Given the description of an element on the screen output the (x, y) to click on. 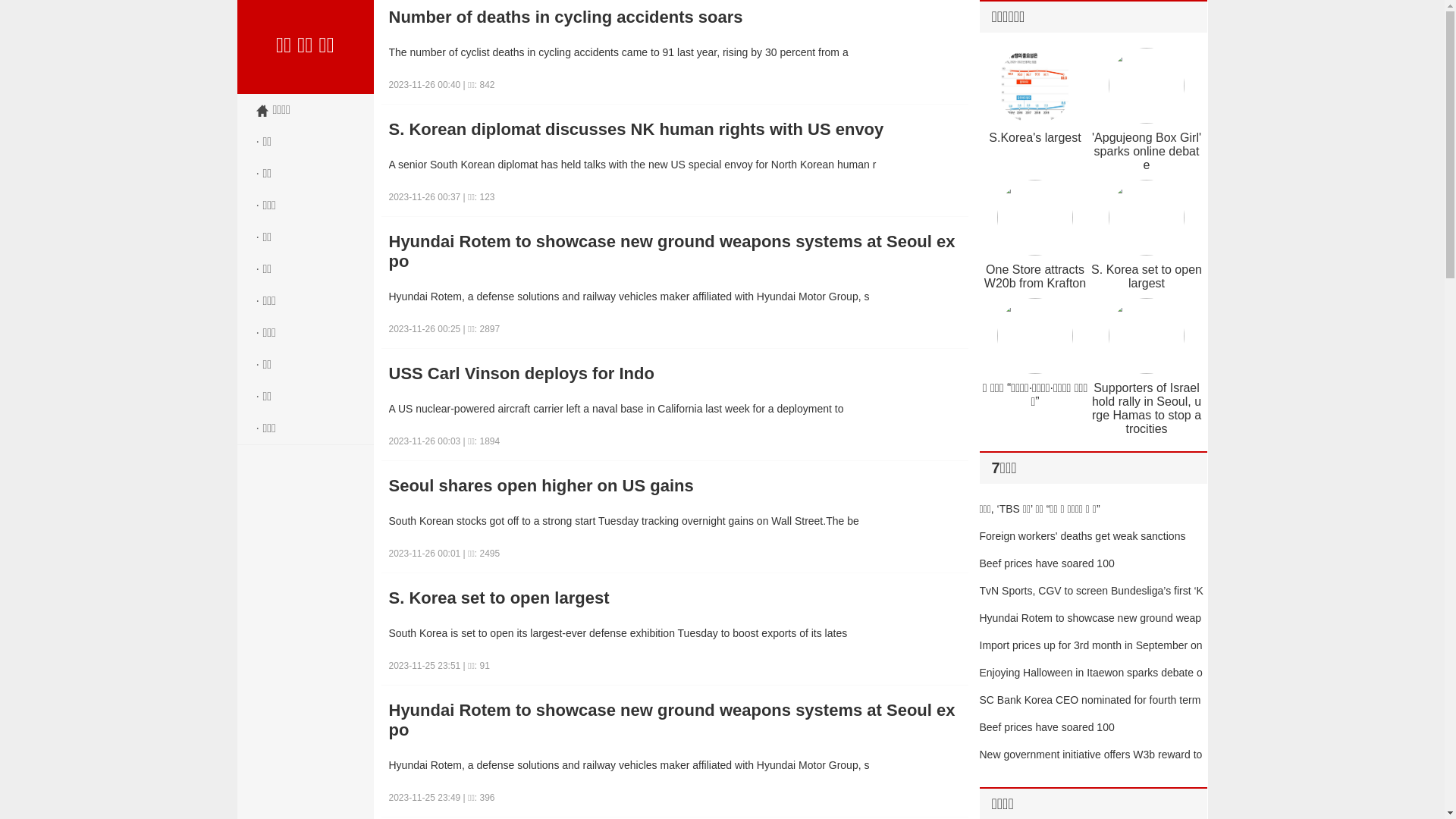
Beef prices have soared 100 Element type: text (1046, 563)
Beef prices have soared 100 Element type: text (1046, 727)
SC Bank Korea CEO nominated for fourth term Element type: text (1090, 699)
Seoul shares open higher on US gains Element type: text (674, 485)
S.Korea's largest Element type: text (1034, 137)
Enjoying Halloween in Itaewon sparks debate online Element type: text (1090, 686)
S. Korea set to open largest Element type: text (1146, 276)
S. Korean diplomat discusses NK human rights with US envoy Element type: text (674, 129)
One Store attracts W20b from Krafton Element type: text (1034, 276)
Foreign workers' deaths get weak sanctions Element type: text (1082, 536)
S. Korea set to open largest Element type: text (674, 598)
Number of deaths in cycling accidents soars Element type: text (674, 17)
USS Carl Vinson deploys for Indo Element type: text (674, 373)
'Apgujeong Box Girl' sparks online debate Element type: text (1146, 151)
